Given the description of an element on the screen output the (x, y) to click on. 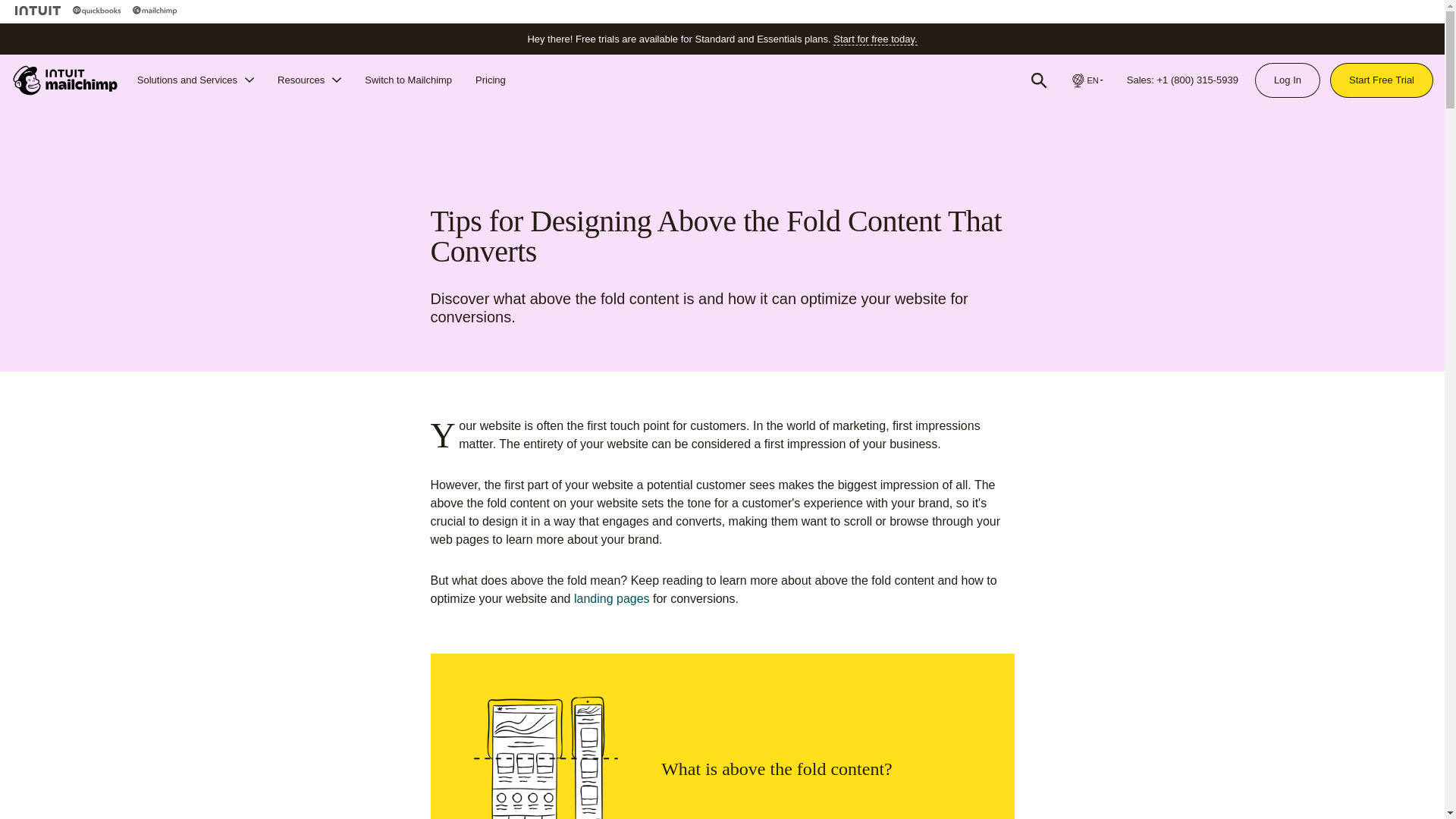
Start for free today. (874, 39)
Switch to Mailchimp (408, 79)
Start Free Trial (1381, 80)
Solutions and Services (195, 79)
Pricing (490, 79)
Resources (308, 79)
Search (1038, 80)
Log In (1287, 80)
landing pages (611, 598)
